Given the description of an element on the screen output the (x, y) to click on. 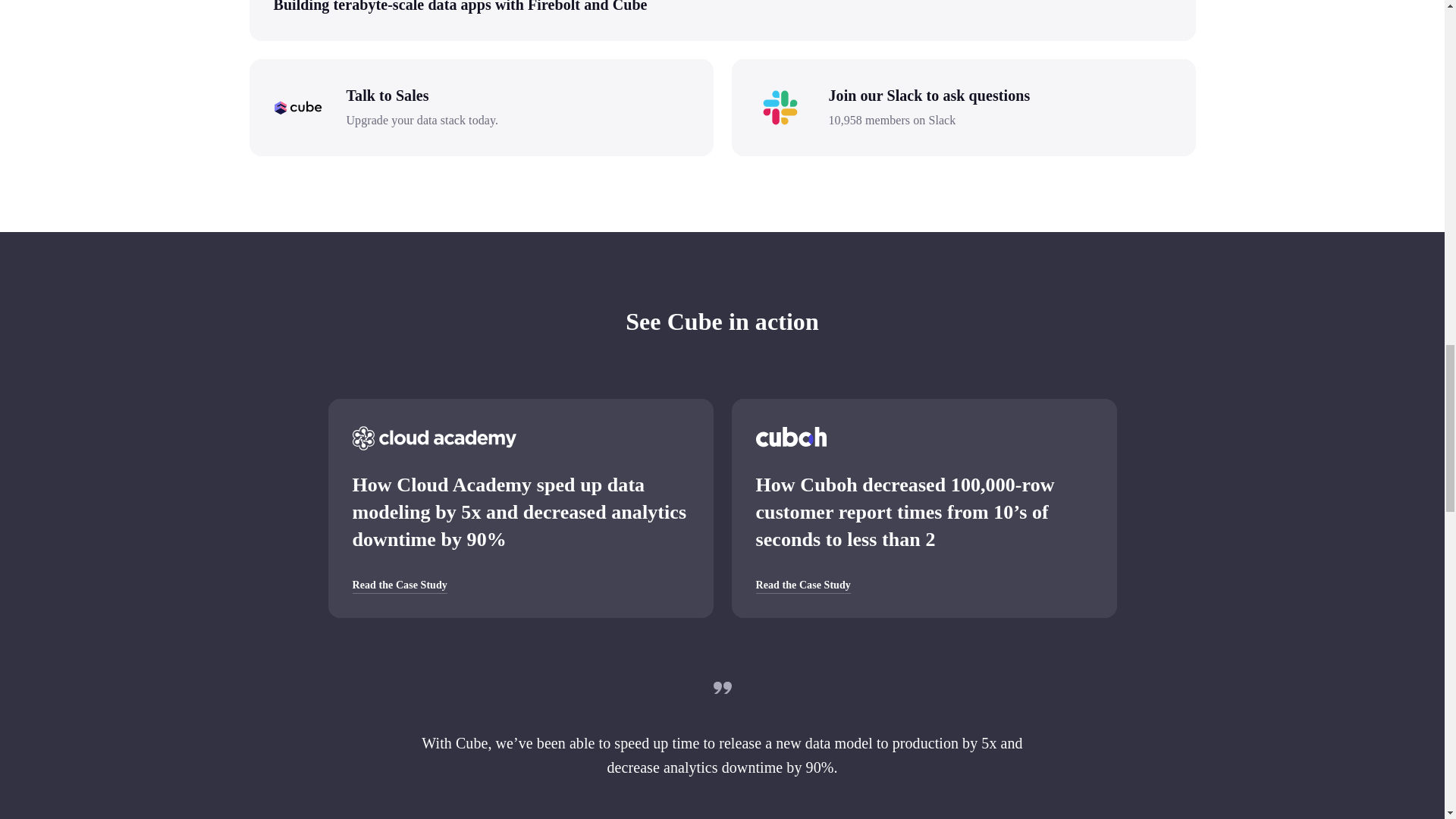
Join our Slack to ask questions (999, 95)
Talk to Sales (517, 95)
Building terabyte-scale data apps with Firebolt and Cube (459, 6)
